Given the description of an element on the screen output the (x, y) to click on. 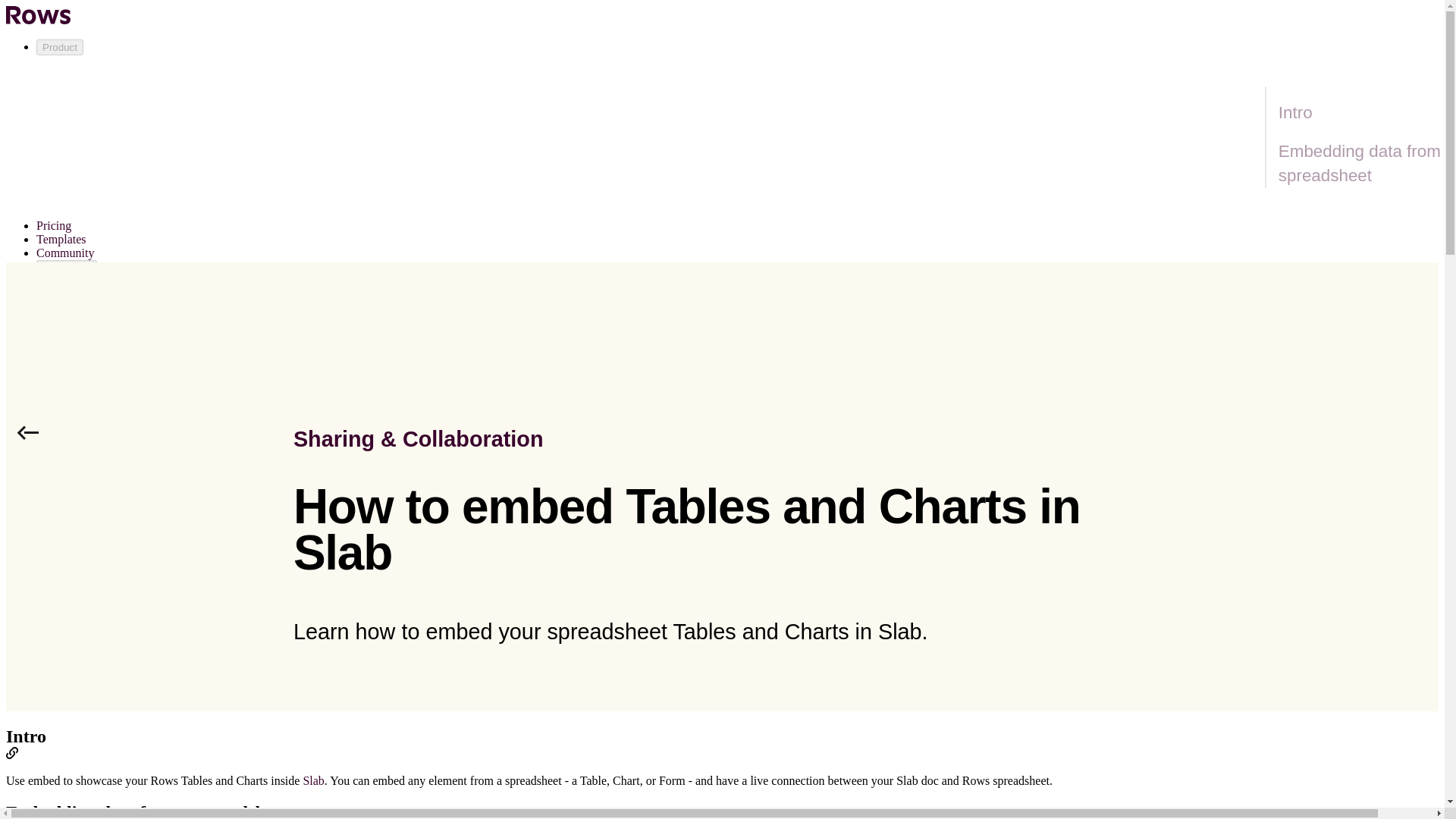
Sign up for free (43, 390)
Slab (312, 780)
Pricing (53, 225)
Product (59, 47)
Community (65, 252)
Templates (60, 238)
Sign up for free (43, 390)
Sign in (53, 364)
Resources (66, 268)
